Given the description of an element on the screen output the (x, y) to click on. 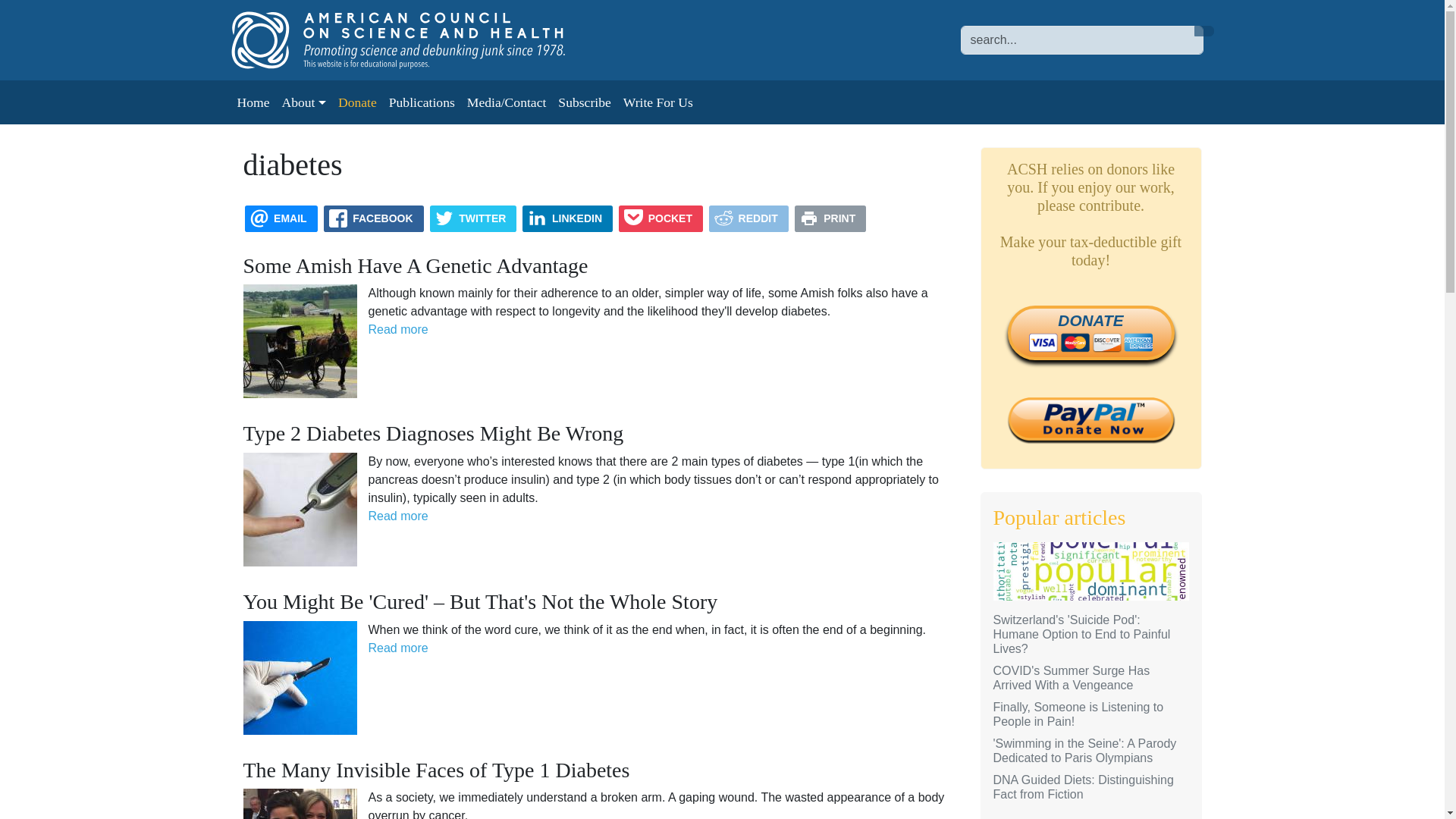
Type 2 Diabetes Diagnoses Might Be Wrong (433, 433)
The Many Invisible Faces of Type 1 Diabetes (435, 770)
Read more (398, 328)
REDDIT (749, 218)
Read more (398, 515)
FACEBOOK (373, 218)
Donate (356, 101)
Subscribe (583, 101)
Home (413, 39)
Skip to main content (60, 10)
Write For Us (657, 101)
Read more (398, 647)
POCKET (660, 218)
PRINT (830, 218)
LINKEDIN (567, 218)
